Given the description of an element on the screen output the (x, y) to click on. 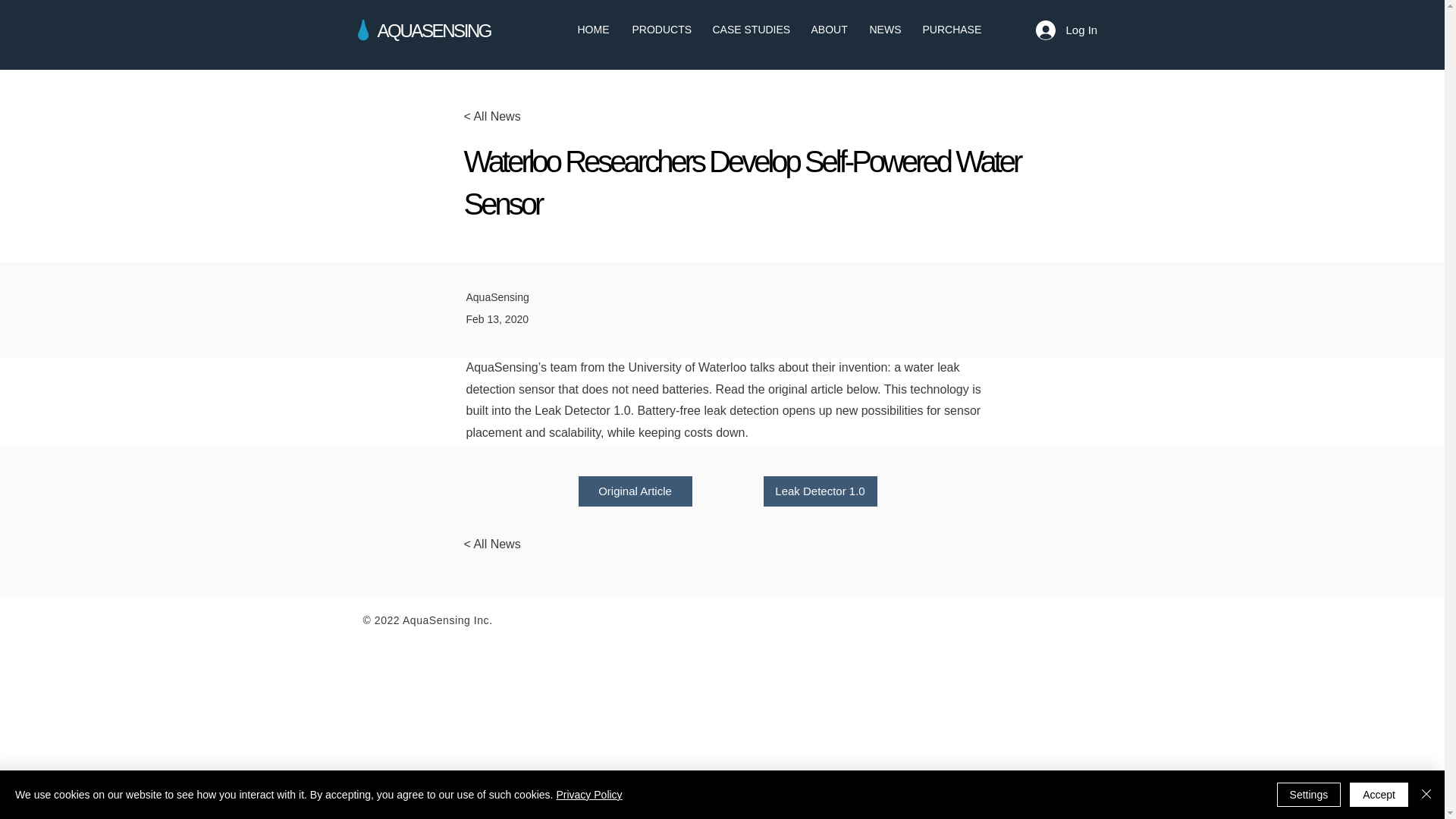
Log In (1055, 29)
NEWS (885, 30)
HOME (593, 30)
Original Article (634, 490)
Leak Detector 1.0 (819, 490)
Accept (1378, 794)
Settings (1308, 794)
Privacy Policy (588, 794)
PURCHASE (951, 30)
